Given the description of an element on the screen output the (x, y) to click on. 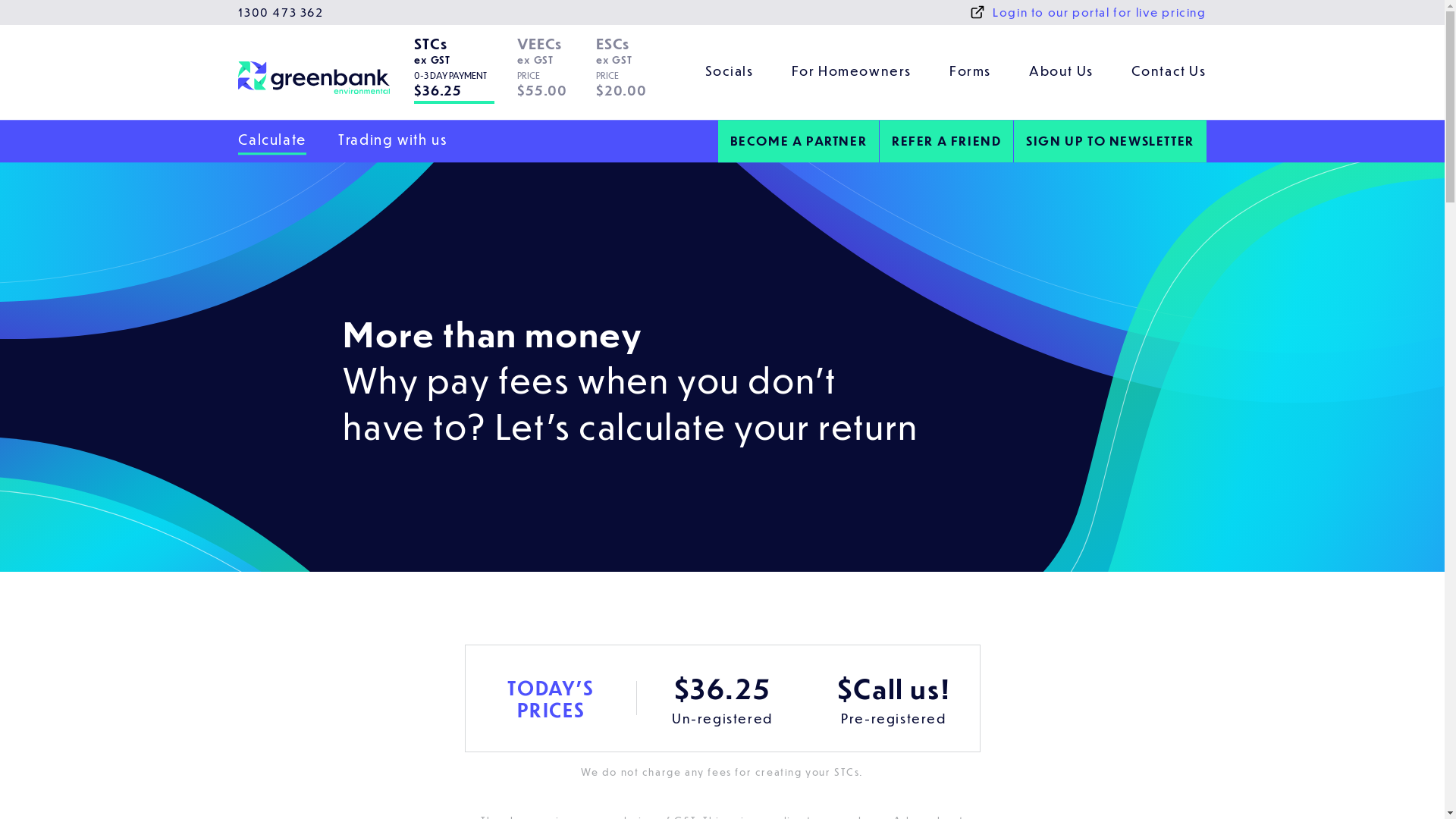
For Homeowners Element type: text (851, 72)
Calculate Element type: text (271, 139)
Socials Element type: text (729, 72)
STCs
ex GST
0-3 DAY PAYMENT
$36.25 Element type: text (461, 71)
VEECs
ex GST
PRICE
$55.00 Element type: text (552, 71)
Login to our portal for live pricing Element type: text (1087, 11)
Forms Element type: text (970, 72)
Trading with us Element type: text (392, 139)
Contact Us Element type: text (1168, 72)
BECOME A PARTNER Element type: text (798, 140)
About Us Element type: text (1061, 72)
ESCs
ex GST
PRICE
$20.00 Element type: text (628, 71)
REFER A FRIEND Element type: text (946, 140)
SIGN UP TO NEWSLETTER Element type: text (1109, 140)
